Given the description of an element on the screen output the (x, y) to click on. 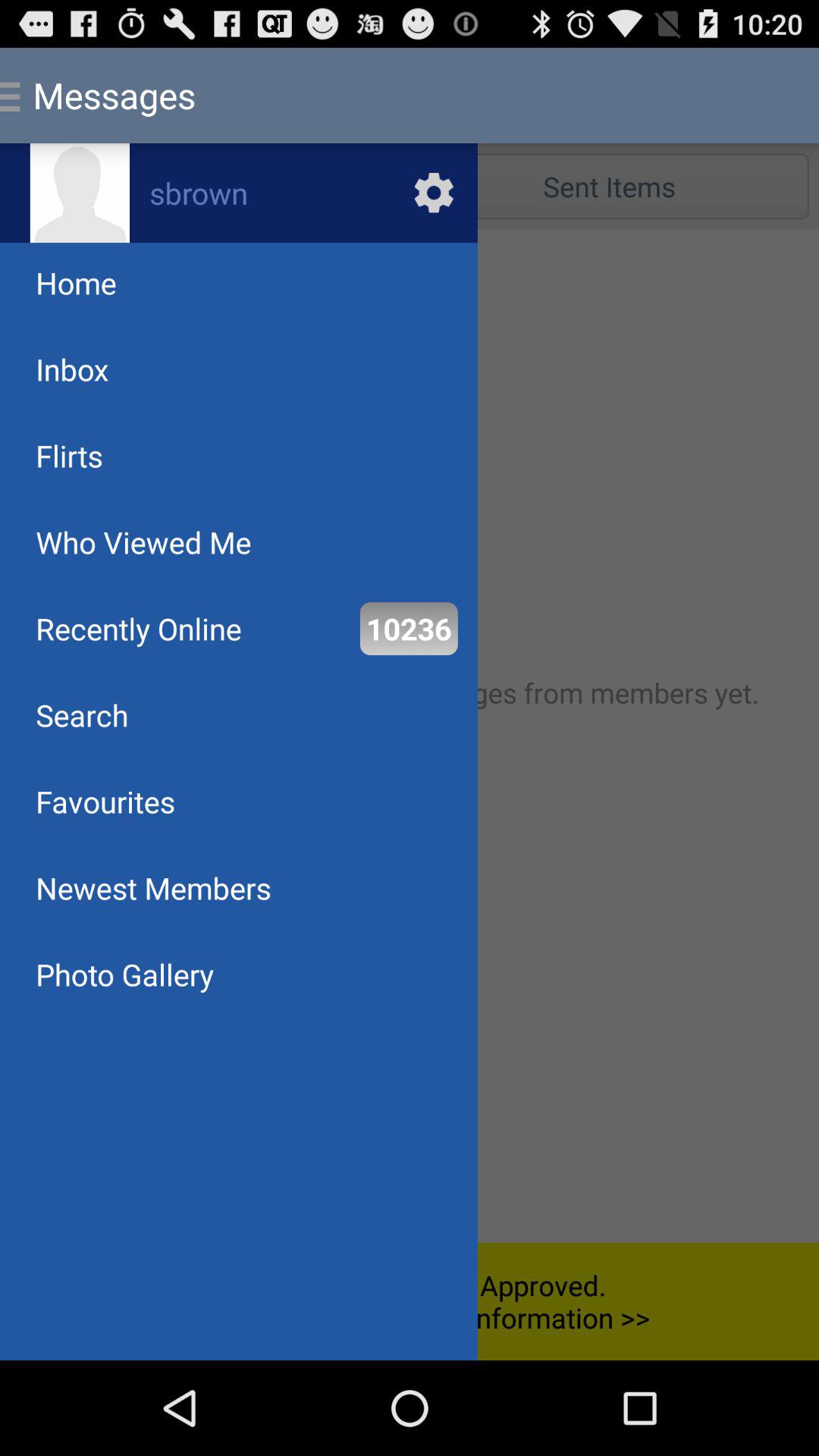
click the item to the right of the inbox icon (608, 186)
